Given the description of an element on the screen output the (x, y) to click on. 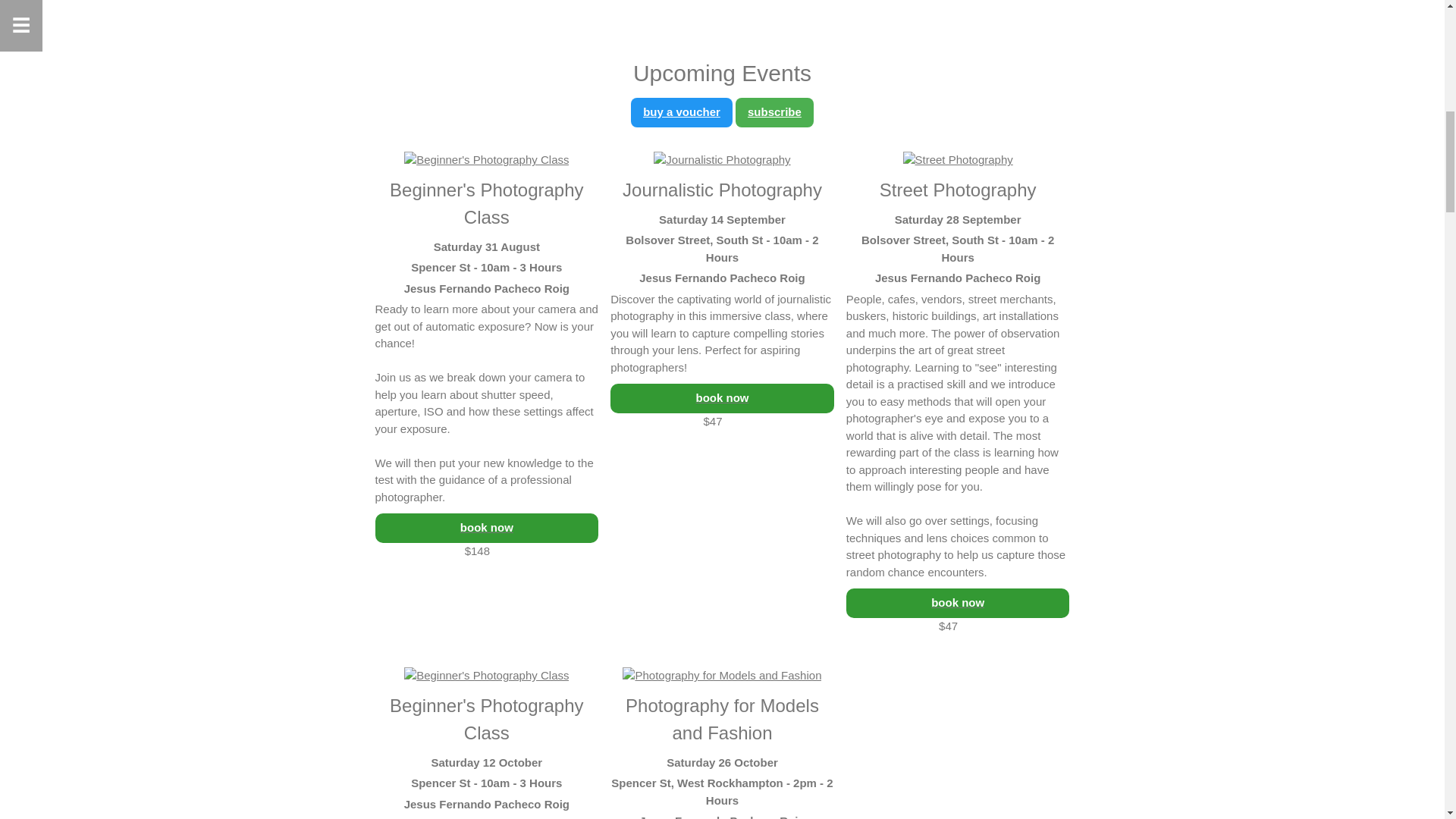
buy a voucher (681, 111)
book now (957, 603)
book now (722, 398)
book now (486, 527)
subscribe (775, 111)
